Given the description of an element on the screen output the (x, y) to click on. 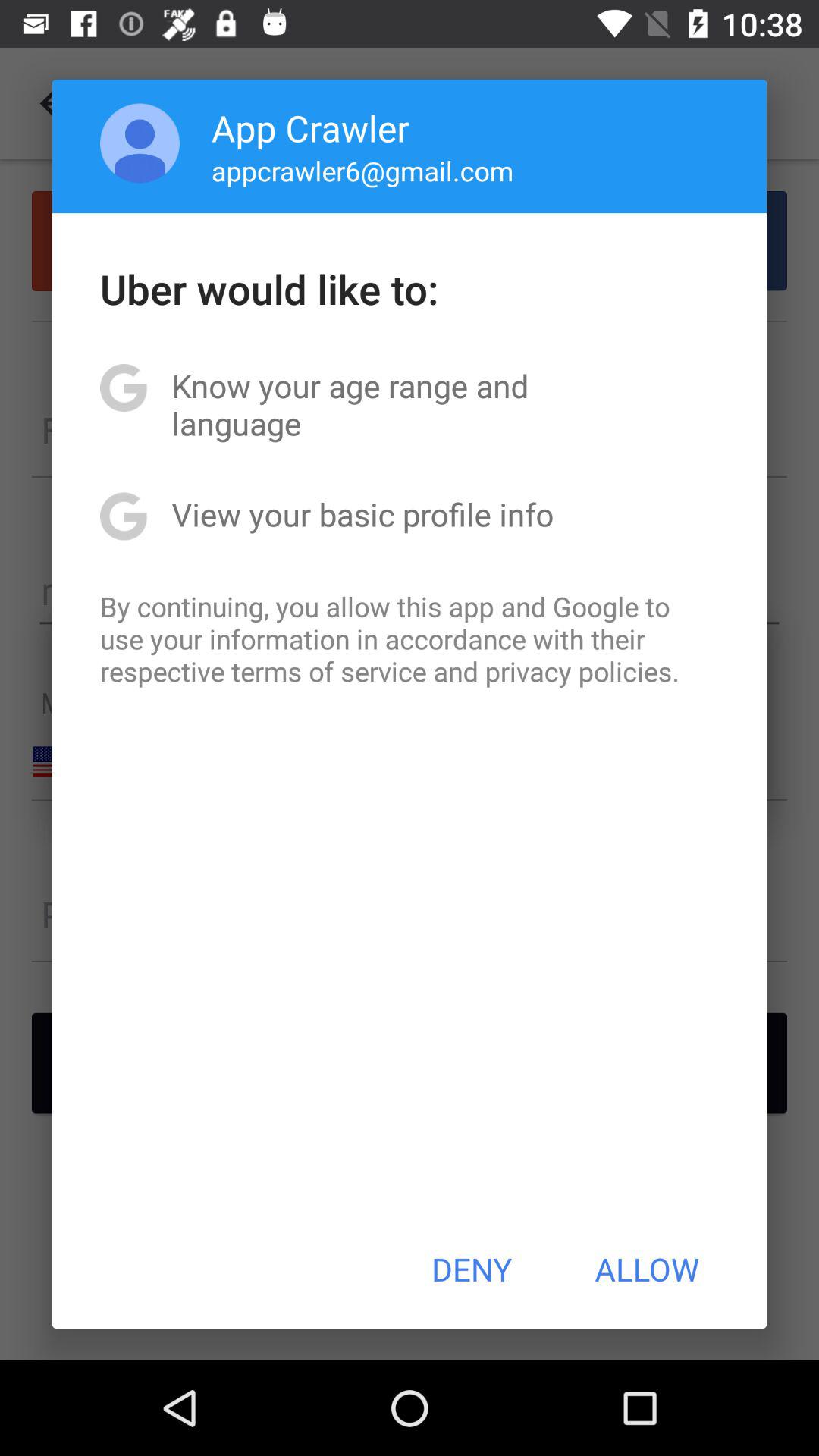
turn off the deny button (471, 1268)
